Given the description of an element on the screen output the (x, y) to click on. 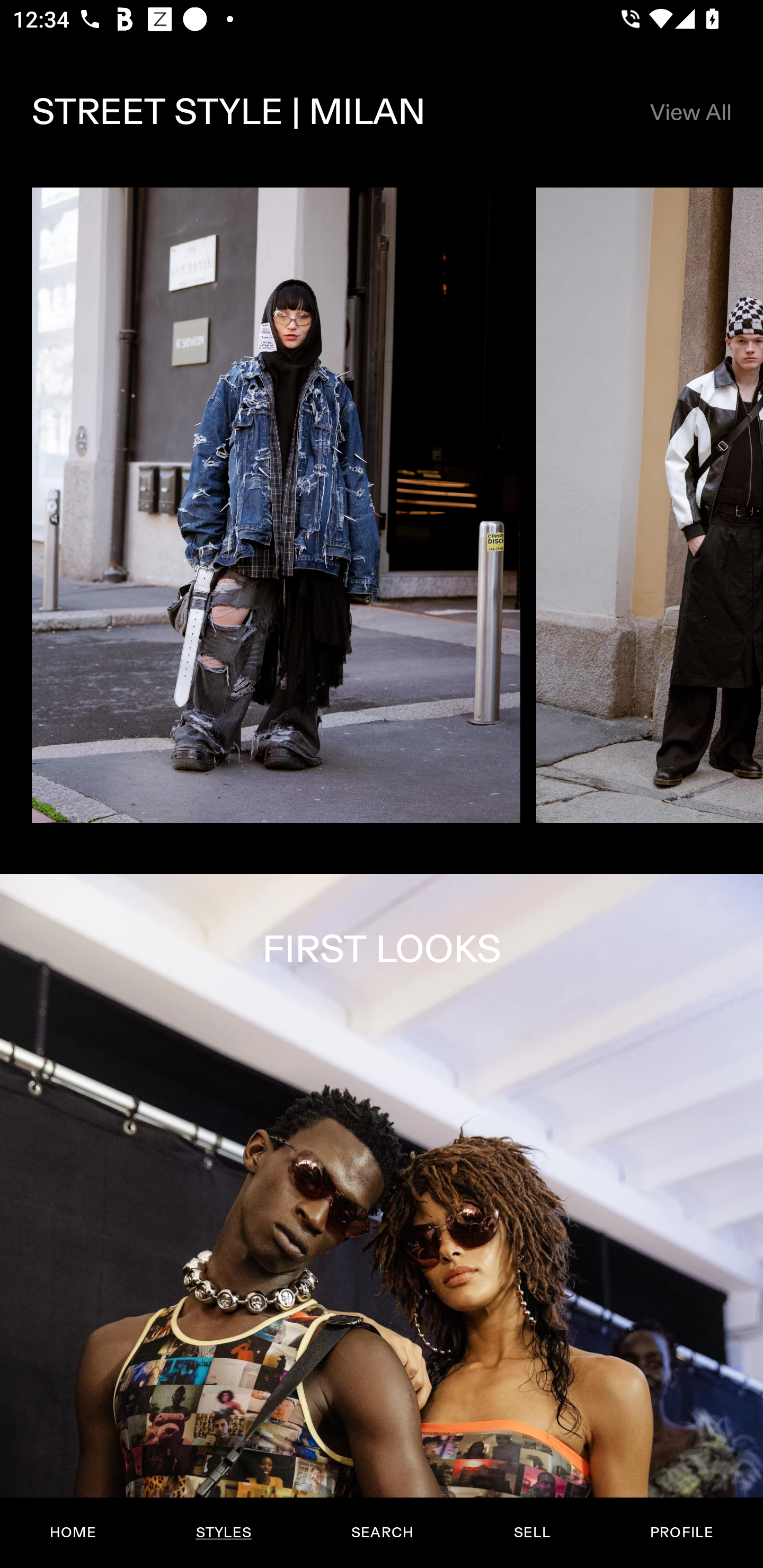
View All (690, 112)
FIRST LOOKS DIESEL FALL '24 (381, 1220)
HOME (72, 1532)
STYLES (222, 1532)
SEARCH (381, 1532)
SELL (531, 1532)
PROFILE (681, 1532)
